Given the description of an element on the screen output the (x, y) to click on. 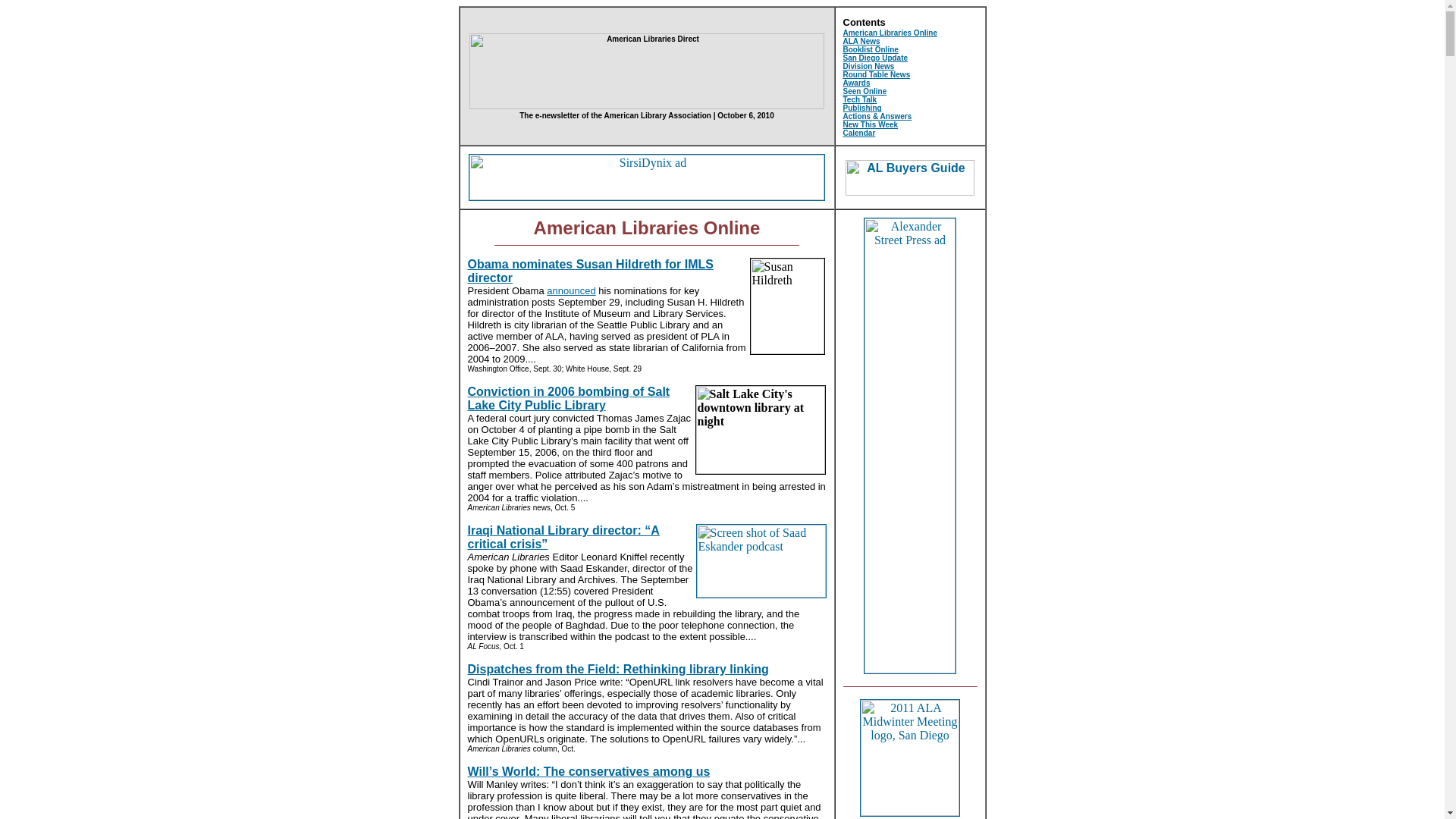
American Libraries Online (890, 32)
Round Table News (877, 74)
Salt Lake City's downtown library at night (759, 429)
AL Buyers Guide (909, 176)
American Libraries Direct (646, 70)
Booklist Online (870, 49)
Seen Online (864, 90)
SirsiDynix ad (646, 176)
Publishing (862, 108)
Tech Talk (860, 99)
